Given the description of an element on the screen output the (x, y) to click on. 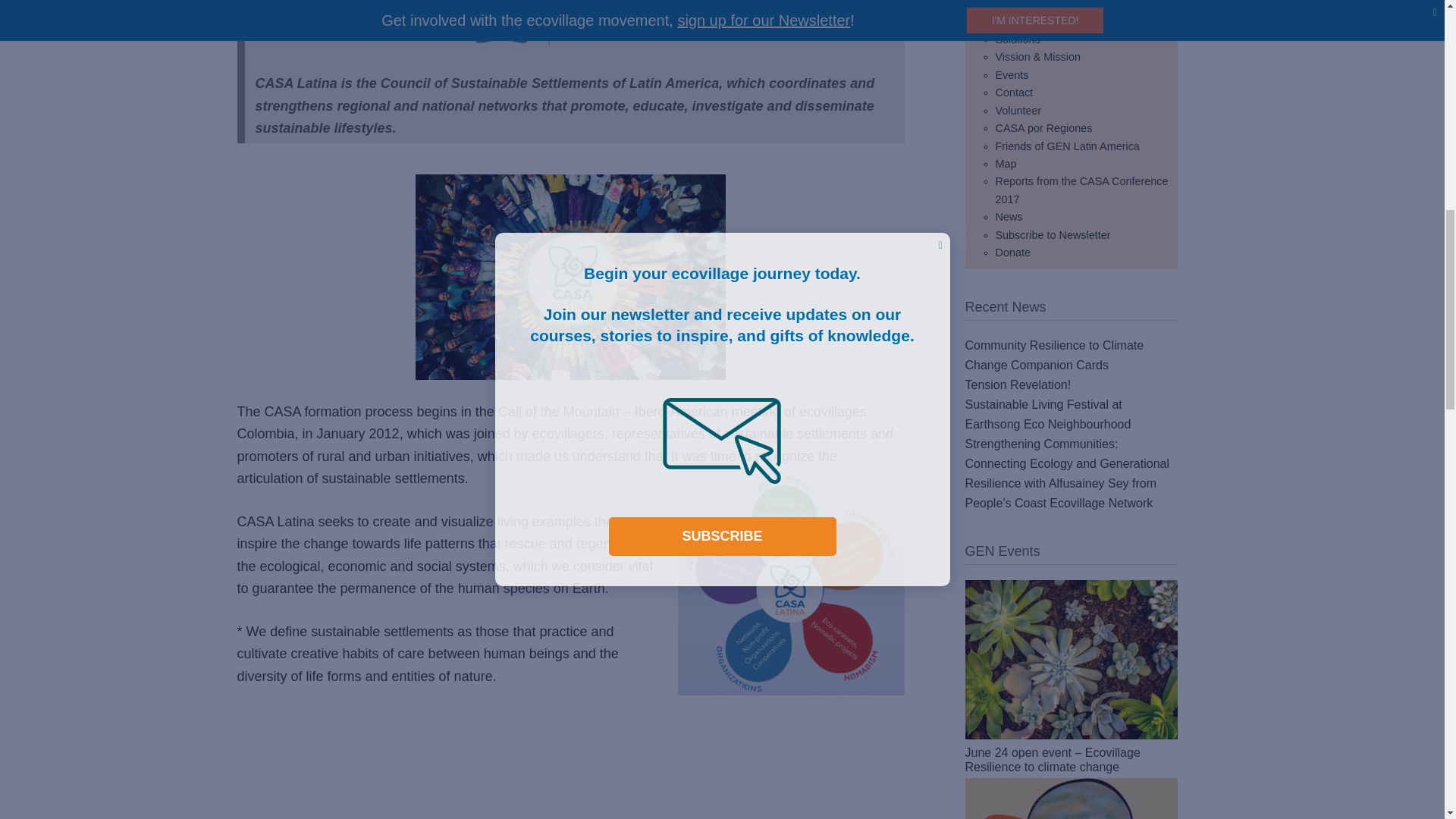
CASA por Regiones (1043, 128)
Volunteer (1017, 110)
Ecovillage Projects (1040, 21)
Events (1010, 74)
Solutions (1016, 39)
Contact (1013, 92)
Bienvenidos a CASA! Bem-vindos a CASA! Welcome HOME! (569, 785)
